Given the description of an element on the screen output the (x, y) to click on. 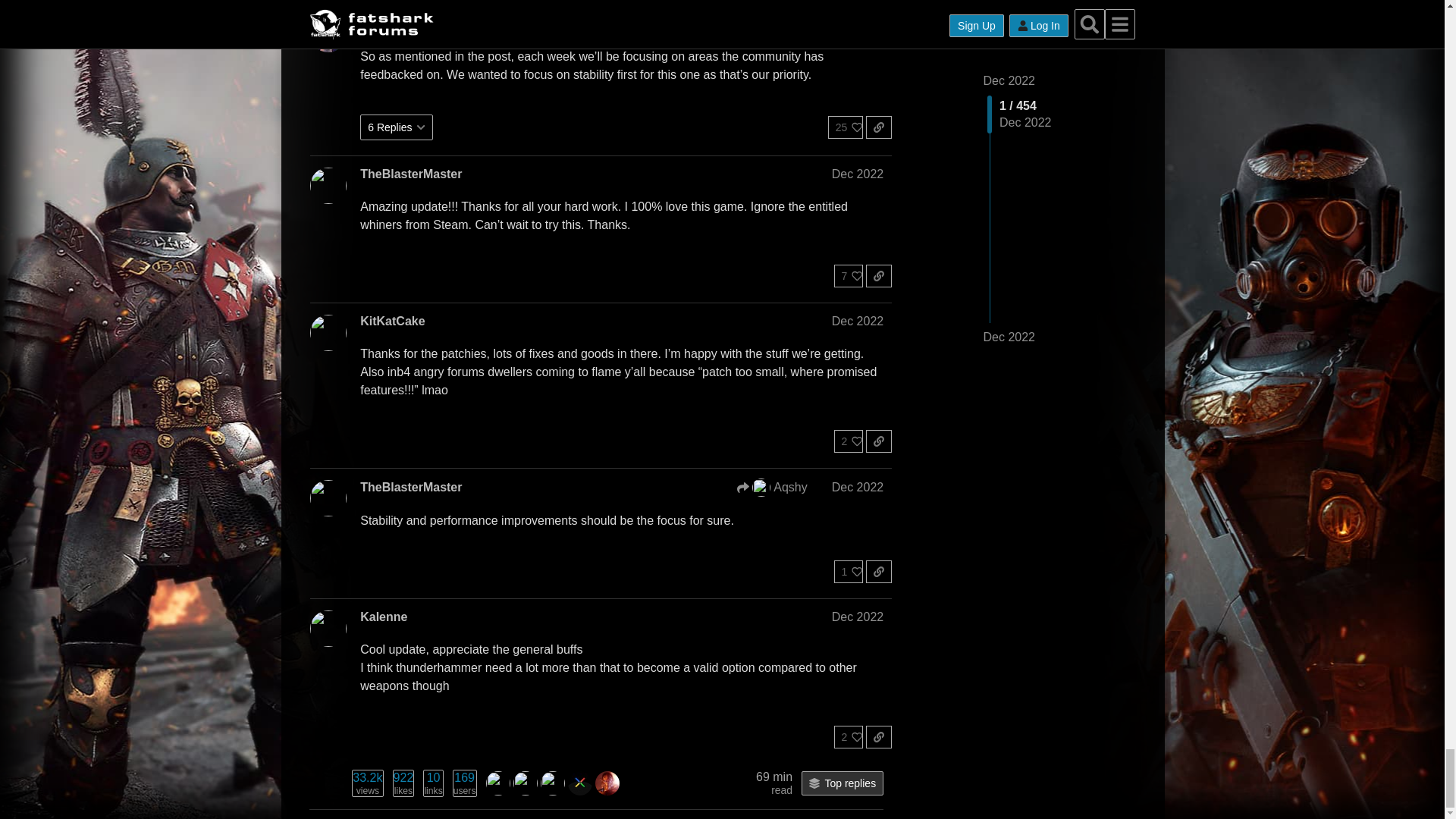
WSkD (498, 783)
Kumori (367, 782)
gordonz88 (525, 781)
Top replies (579, 781)
WSkD (842, 783)
Icemount (498, 781)
Icemount (607, 781)
Ashreon (607, 783)
Ashreon (552, 781)
gordonz88 (552, 783)
Kumori (579, 783)
